Given the description of an element on the screen output the (x, y) to click on. 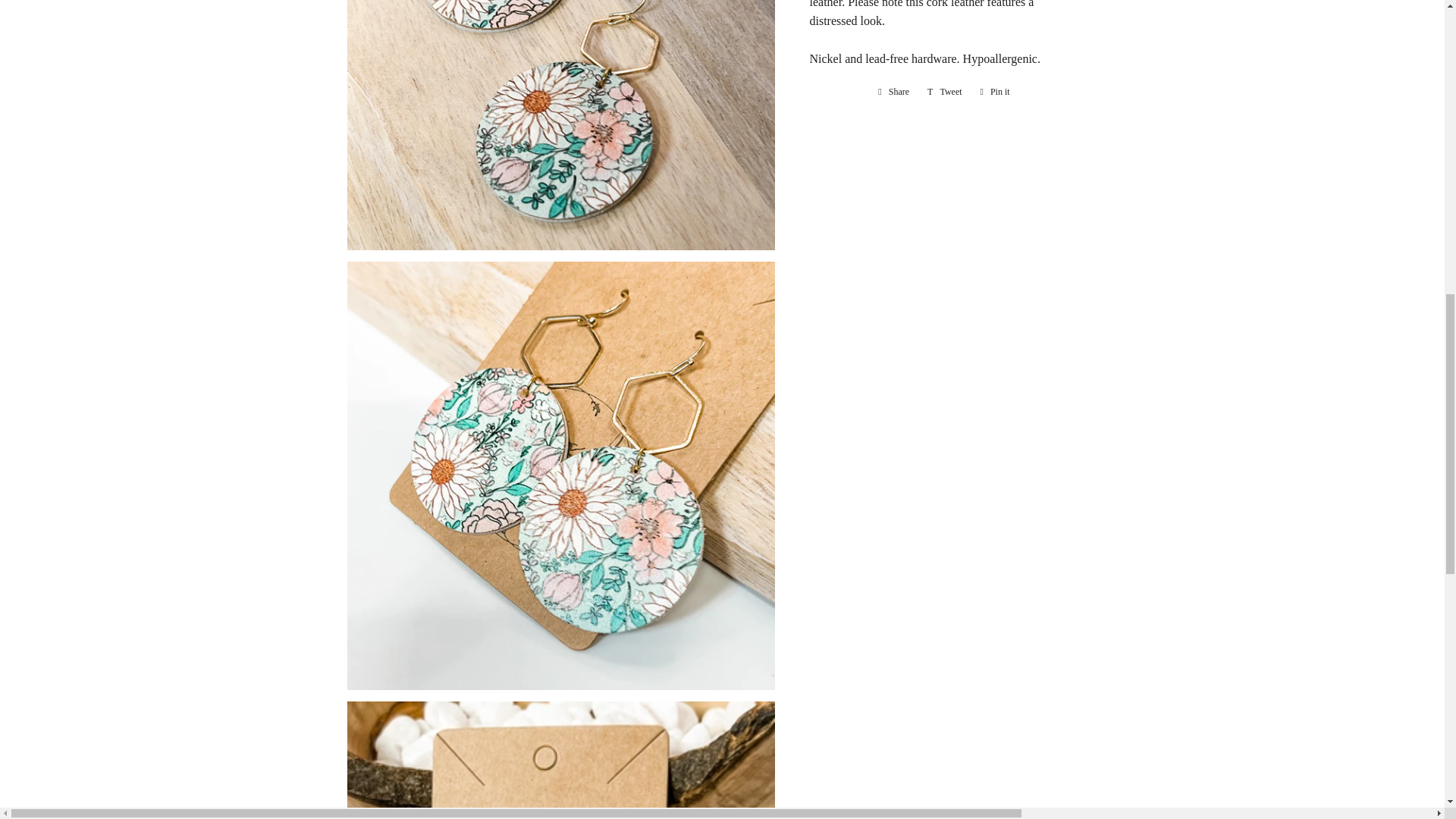
Share on Facebook (893, 91)
Pin on Pinterest (994, 91)
Tweet on Twitter (944, 91)
